Given the description of an element on the screen output the (x, y) to click on. 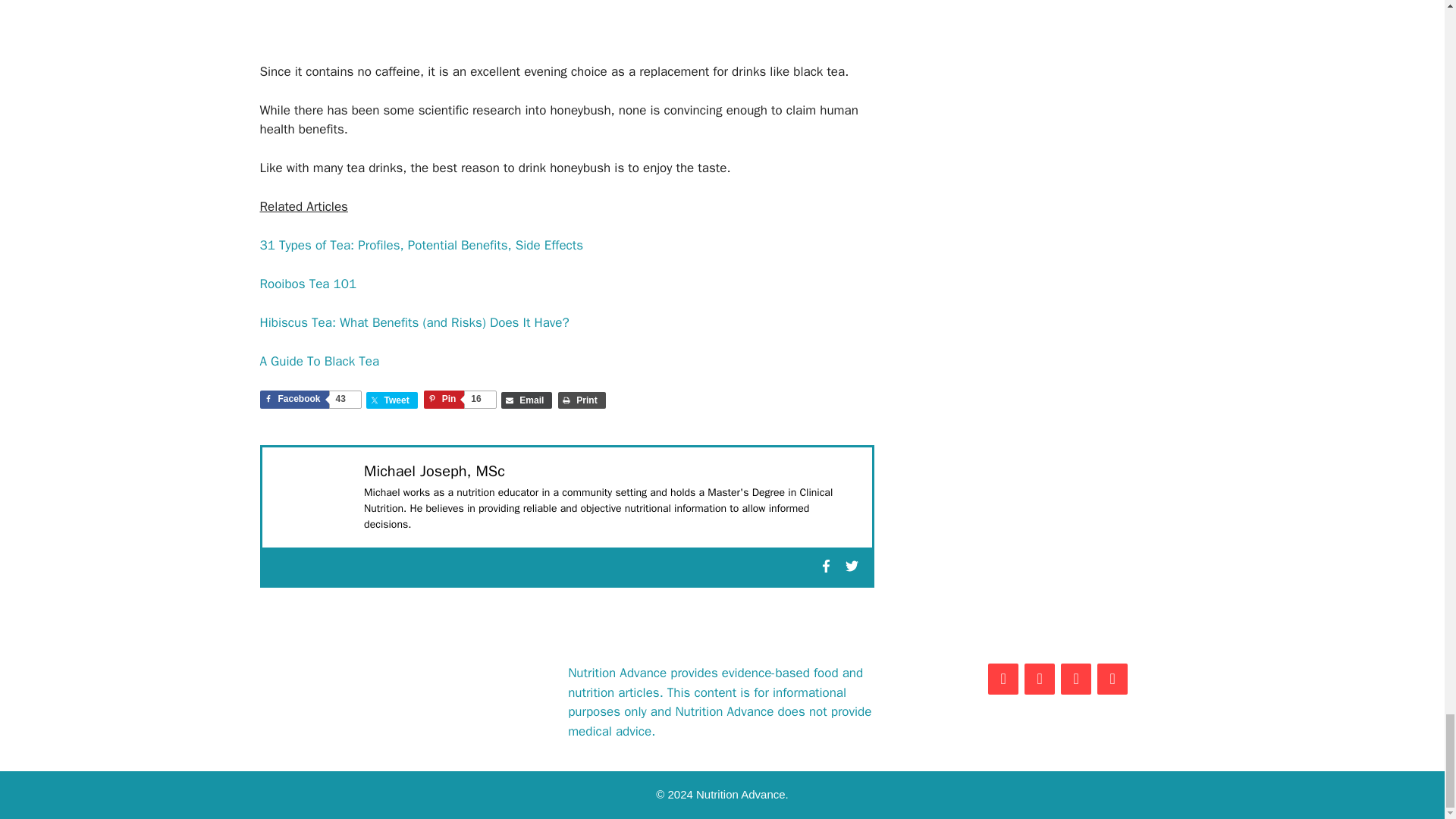
Print this Page (581, 400)
Email (525, 400)
Share via Email (525, 400)
Share on Pinterest (459, 399)
Share on Facebook (309, 399)
Share on Twitter (391, 400)
